Given the description of an element on the screen output the (x, y) to click on. 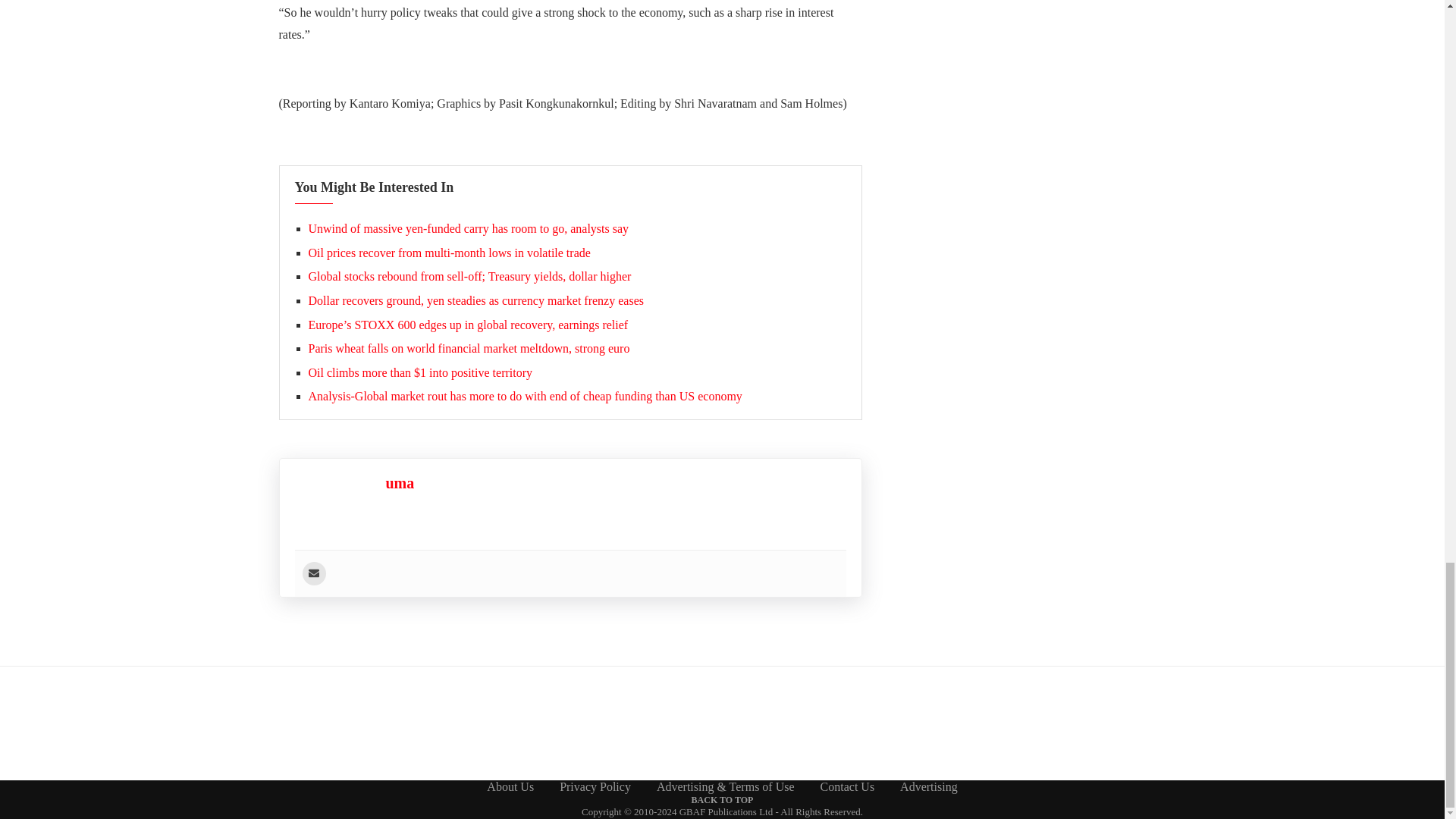
User email (312, 573)
Privacy Policy (594, 786)
uma (399, 483)
Contact Us (848, 786)
About Us (510, 786)
Advertising (928, 786)
BACK TO TOP (722, 798)
Oil prices recover from multi-month lows in volatile trade (448, 252)
